Given the description of an element on the screen output the (x, y) to click on. 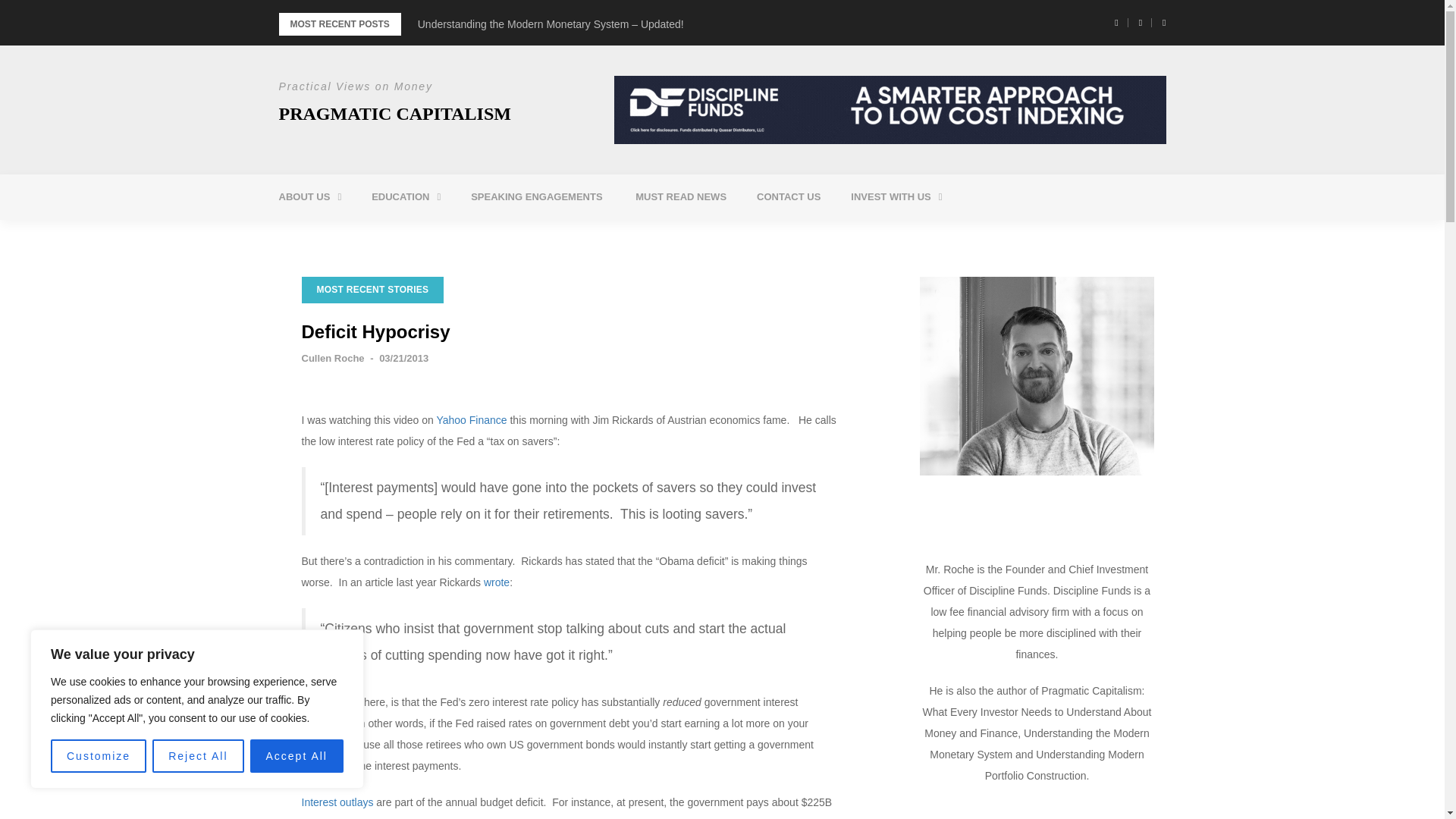
PRAGMATIC CAPITALISM (395, 113)
EDUCATION (405, 197)
Accept All (296, 756)
About Us (309, 197)
Customize (98, 756)
ABOUT US (309, 197)
Reject All (197, 756)
Meet Cullen Roche! (365, 235)
Meet Cullen Roche! (365, 235)
Understanding Money (458, 235)
